Given the description of an element on the screen output the (x, y) to click on. 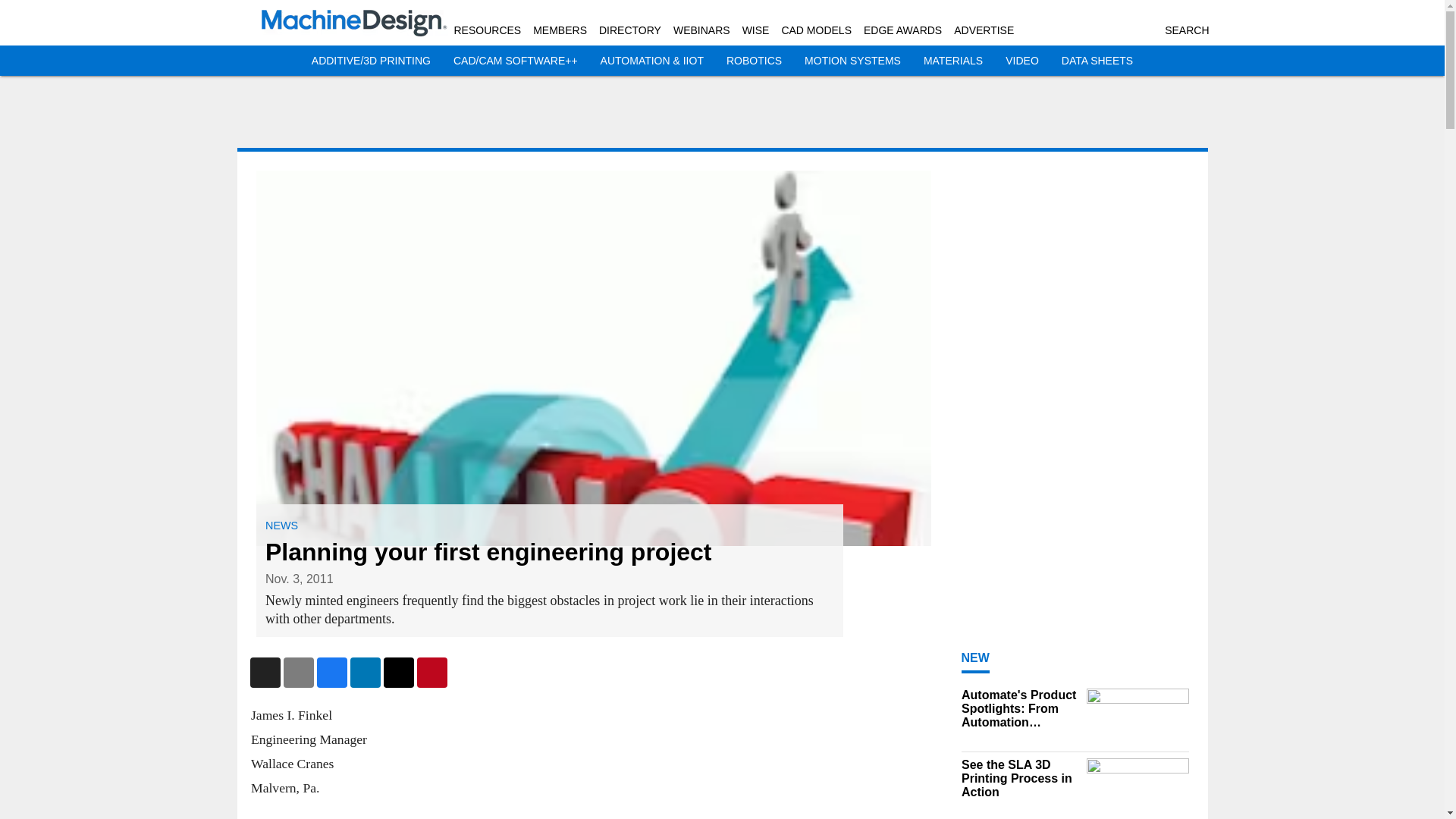
VIDEO (1022, 60)
MEMBERS (559, 30)
WISE (756, 30)
ADVERTISE (983, 30)
RESOURCES (486, 30)
DATA SHEETS (1096, 60)
SEARCH (1186, 30)
MOTION SYSTEMS (853, 60)
ROBOTICS (753, 60)
